Given the description of an element on the screen output the (x, y) to click on. 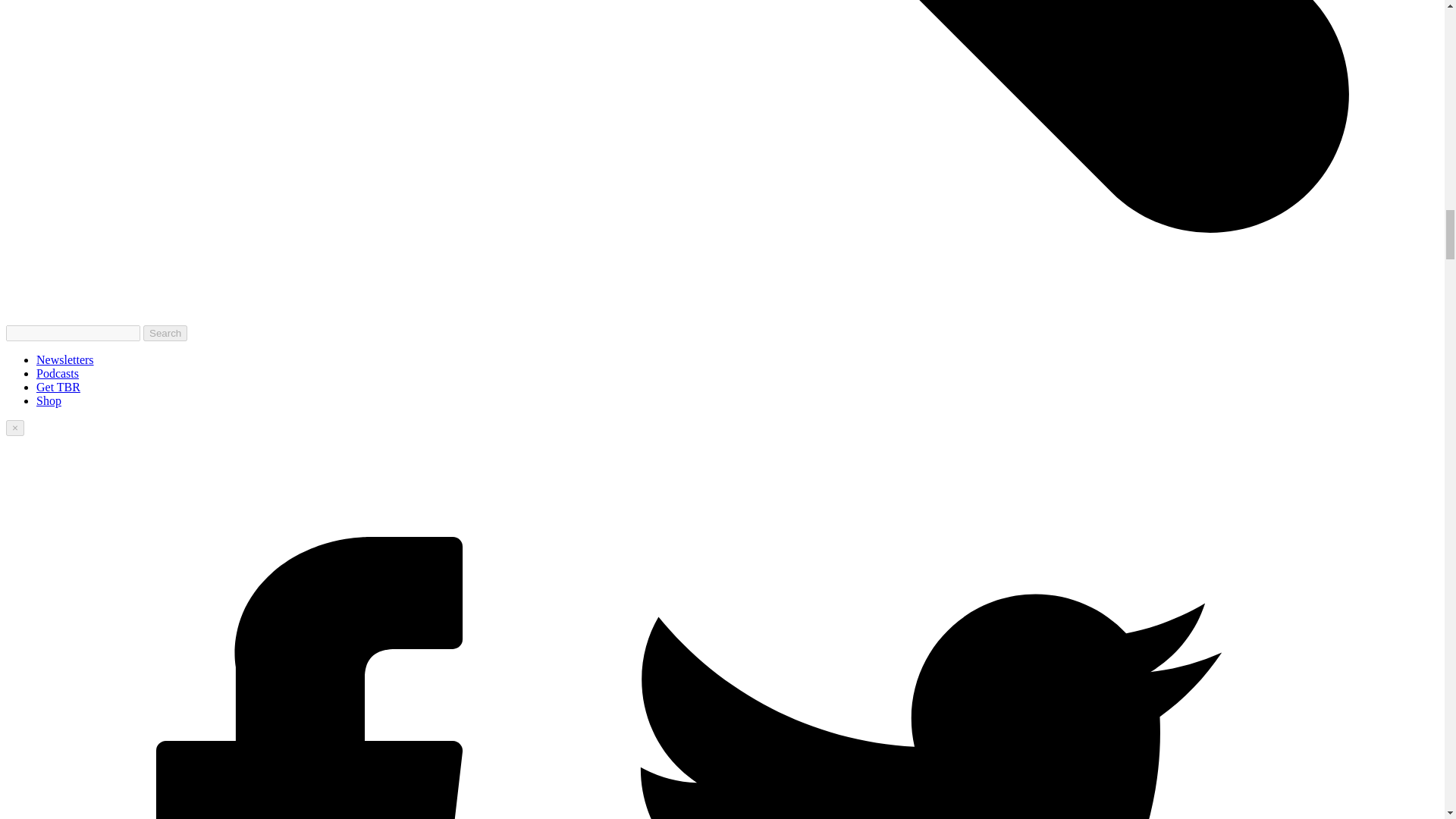
Search (164, 333)
